Given the description of an element on the screen output the (x, y) to click on. 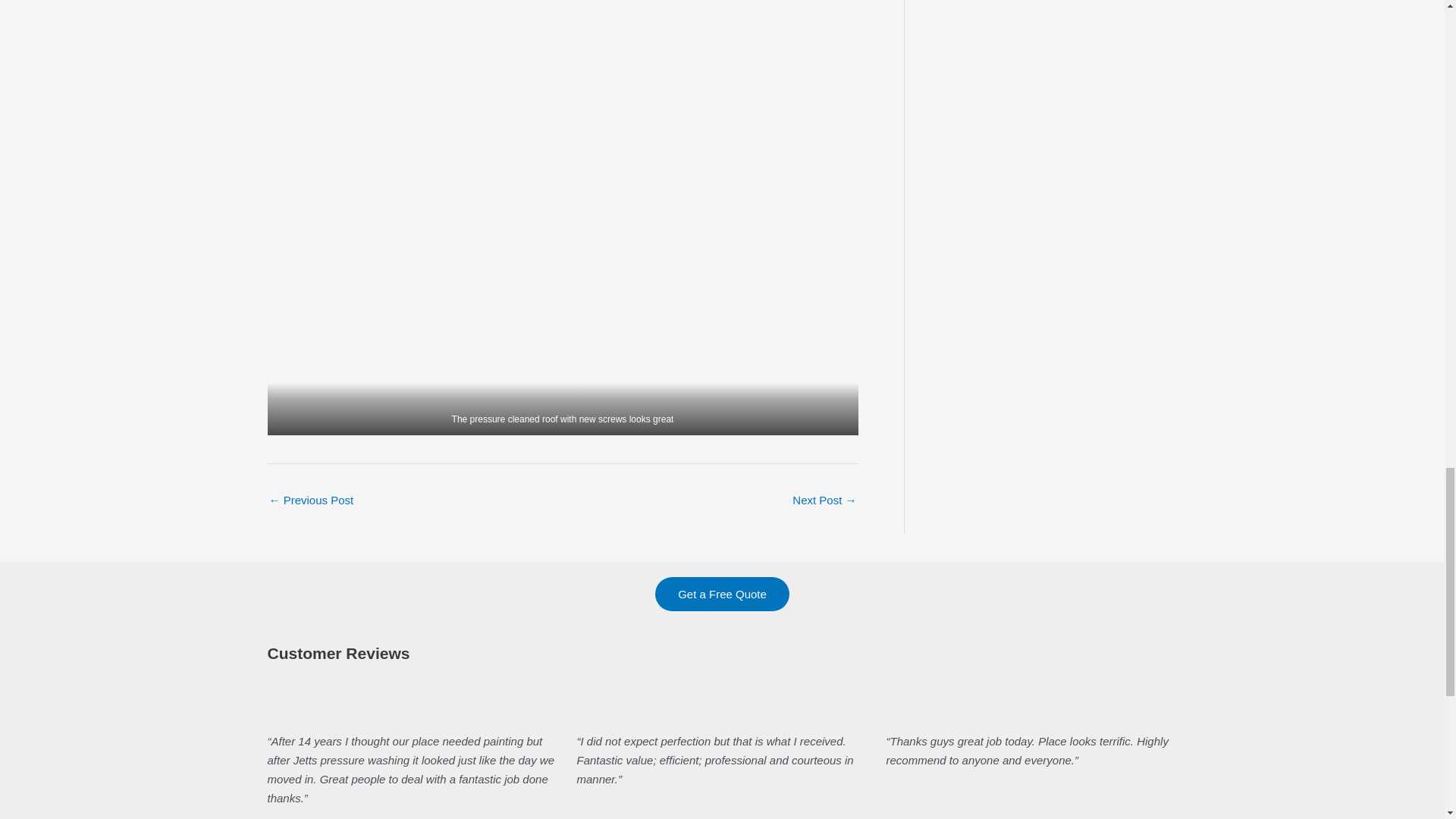
Metal Roof Clean Twin Waters (824, 501)
Concrete Tile Roof Clean Palmwoods (310, 501)
